Given the description of an element on the screen output the (x, y) to click on. 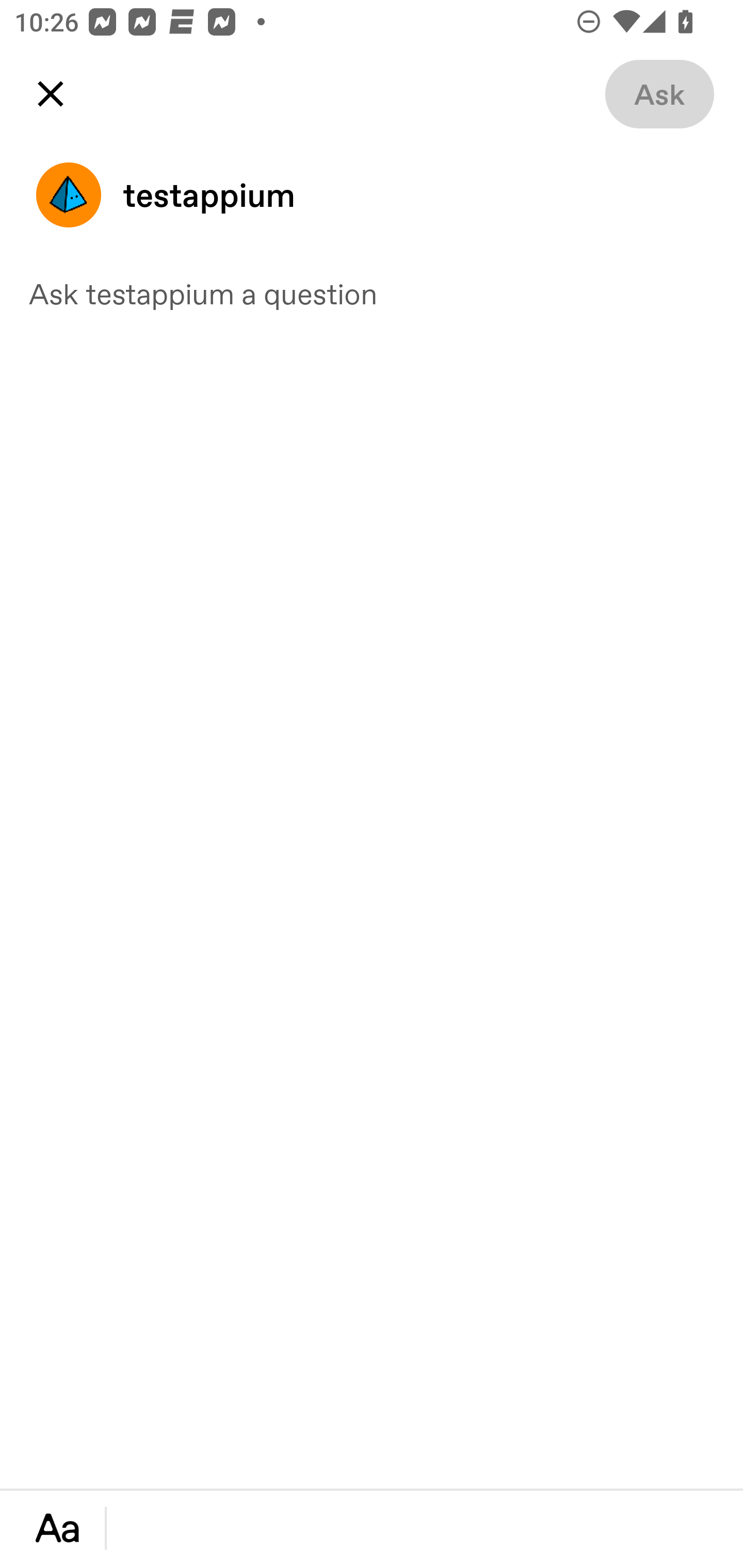
Navigate up (50, 93)
Ask (659, 93)
Blog Selector testappium (371, 195)
Ask testappium a question (371, 293)
Add text to post (57, 1528)
